Given the description of an element on the screen output the (x, y) to click on. 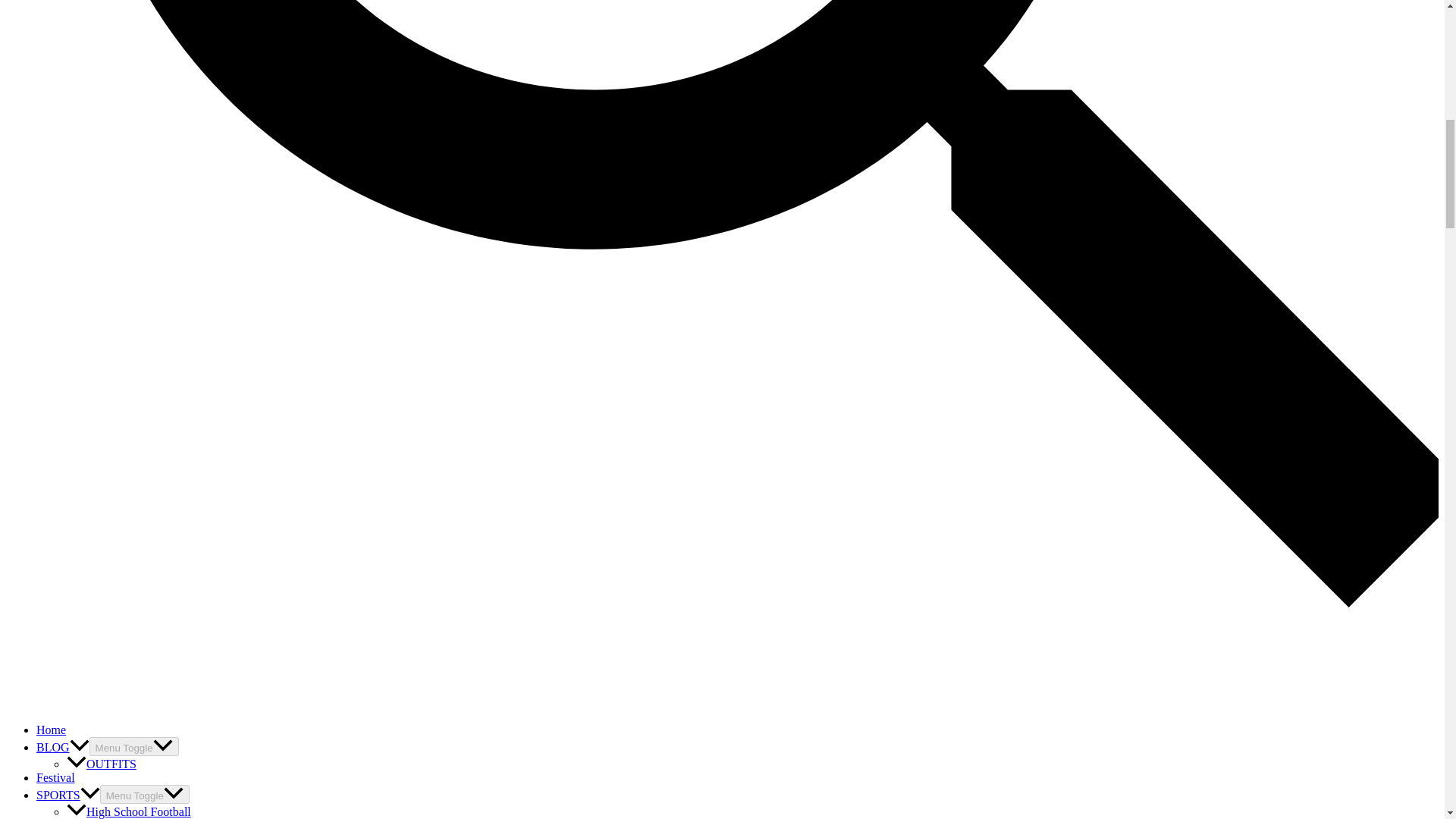
SPORTS (68, 794)
OUTFITS (101, 763)
High School Football (128, 811)
Menu Toggle (133, 746)
BLOG (62, 747)
Home (50, 729)
Menu Toggle (144, 793)
Festival (55, 777)
